Given the description of an element on the screen output the (x, y) to click on. 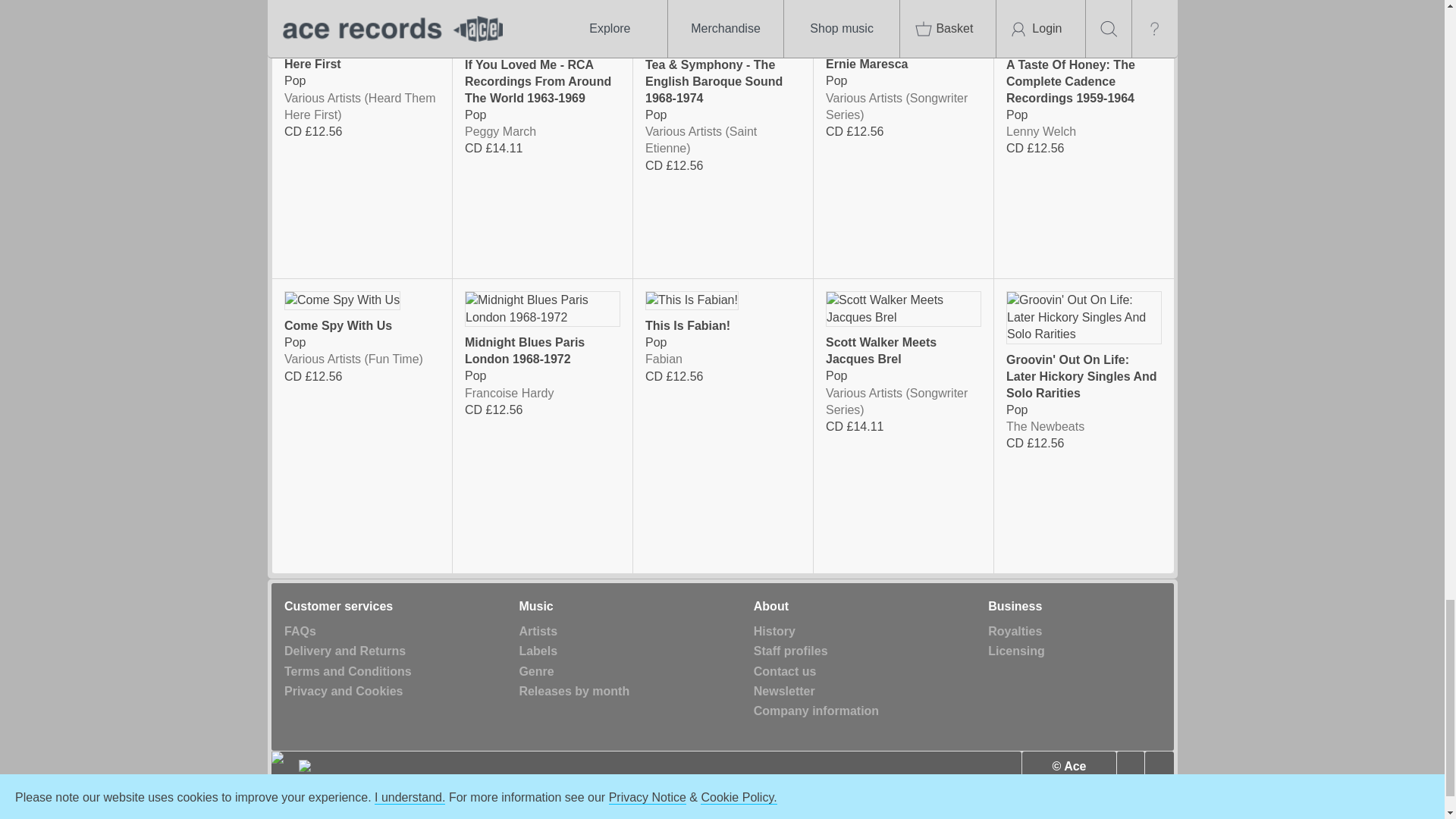
Facebook (1158, 766)
Twitter (1130, 766)
